Given the description of an element on the screen output the (x, y) to click on. 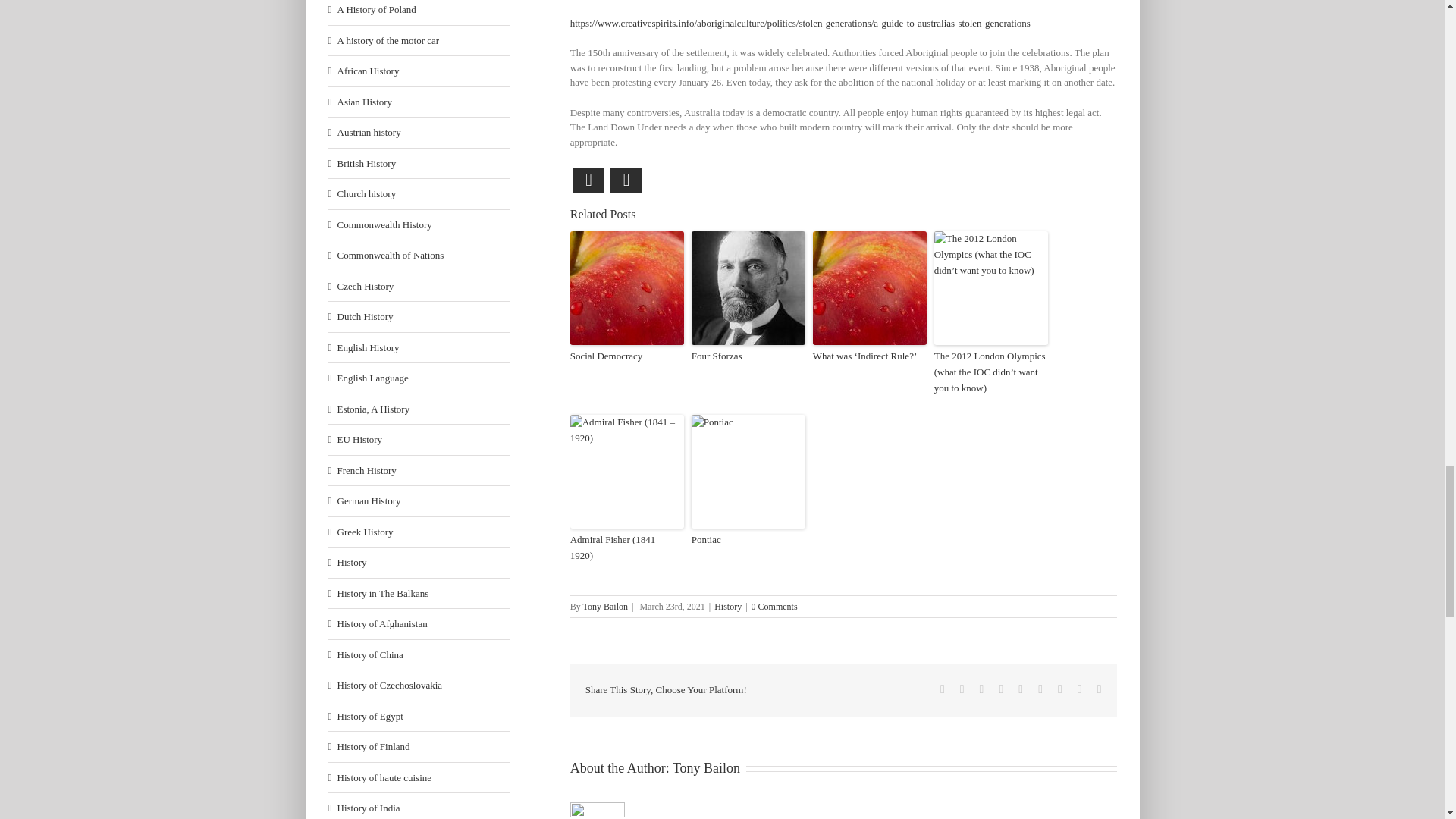
Share this article on Facebook (589, 179)
Share this article on X (626, 179)
Posts by Tony Bailon (705, 767)
Posts by Tony Bailon (604, 606)
Social Democracy (627, 356)
Four Sforzas (748, 356)
